Given the description of an element on the screen output the (x, y) to click on. 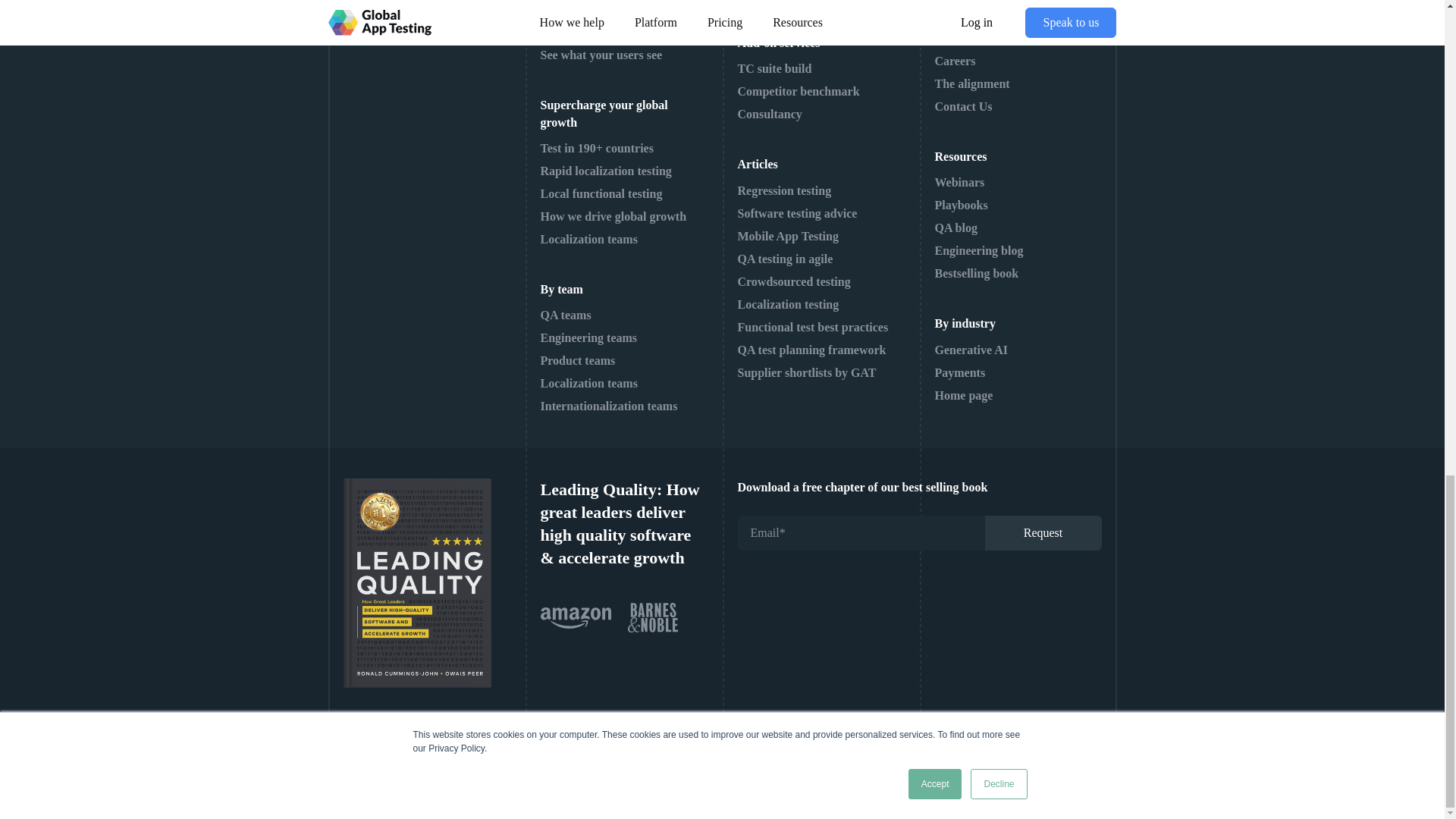
Request (1042, 532)
